Given the description of an element on the screen output the (x, y) to click on. 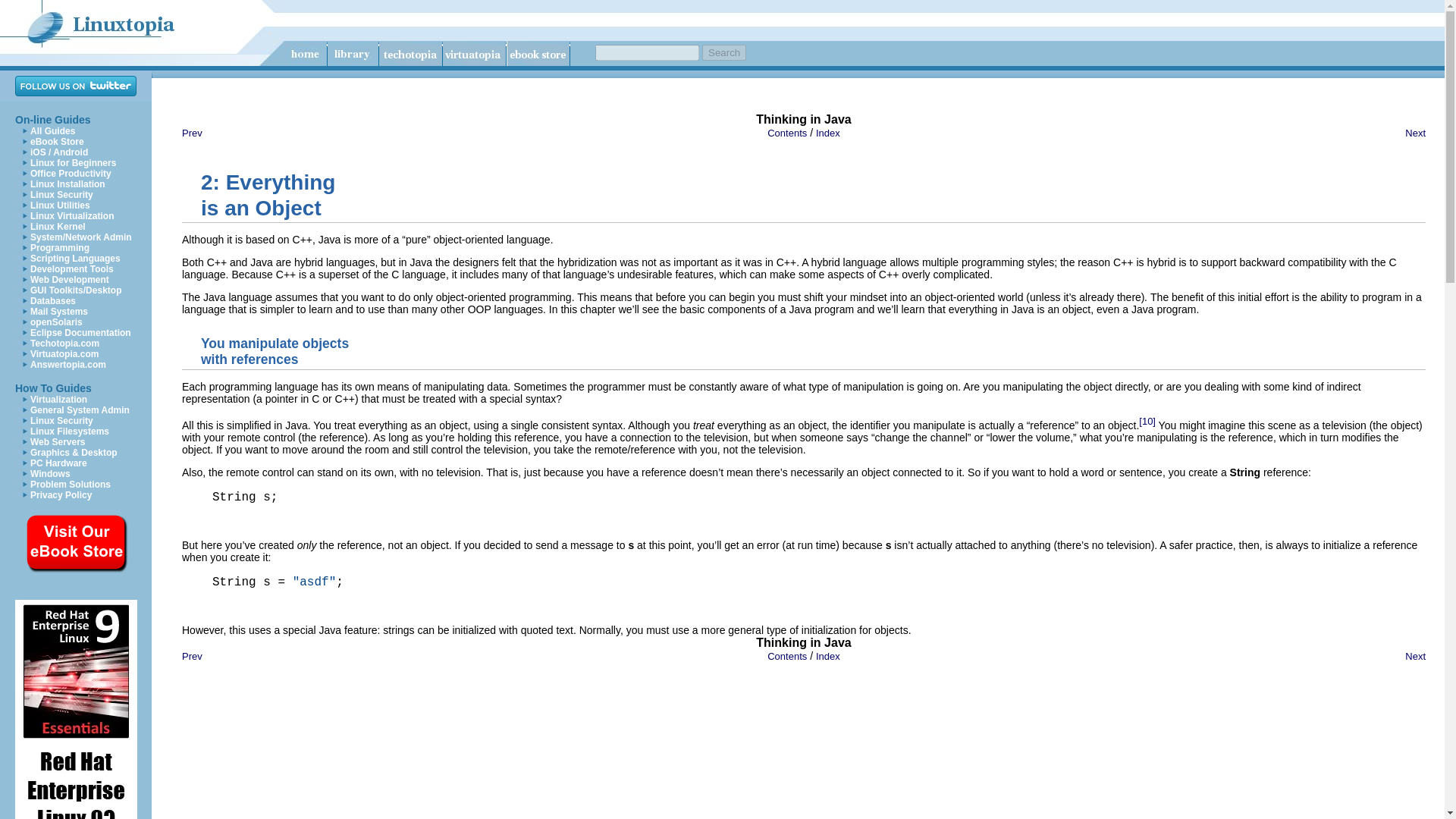
Databases (52, 300)
Linux Security (61, 194)
PC Hardware (58, 462)
Linux Filesystems (69, 430)
Problem Solutions (70, 484)
Prev (192, 132)
Search (723, 52)
Linux for Beginners (73, 163)
eBook Store (57, 141)
Contents (786, 132)
Answertopia.com (68, 364)
openSolaris (56, 321)
Eclipse Documentation (80, 332)
All Guides (52, 131)
Linux Virtualization (71, 215)
